Given the description of an element on the screen output the (x, y) to click on. 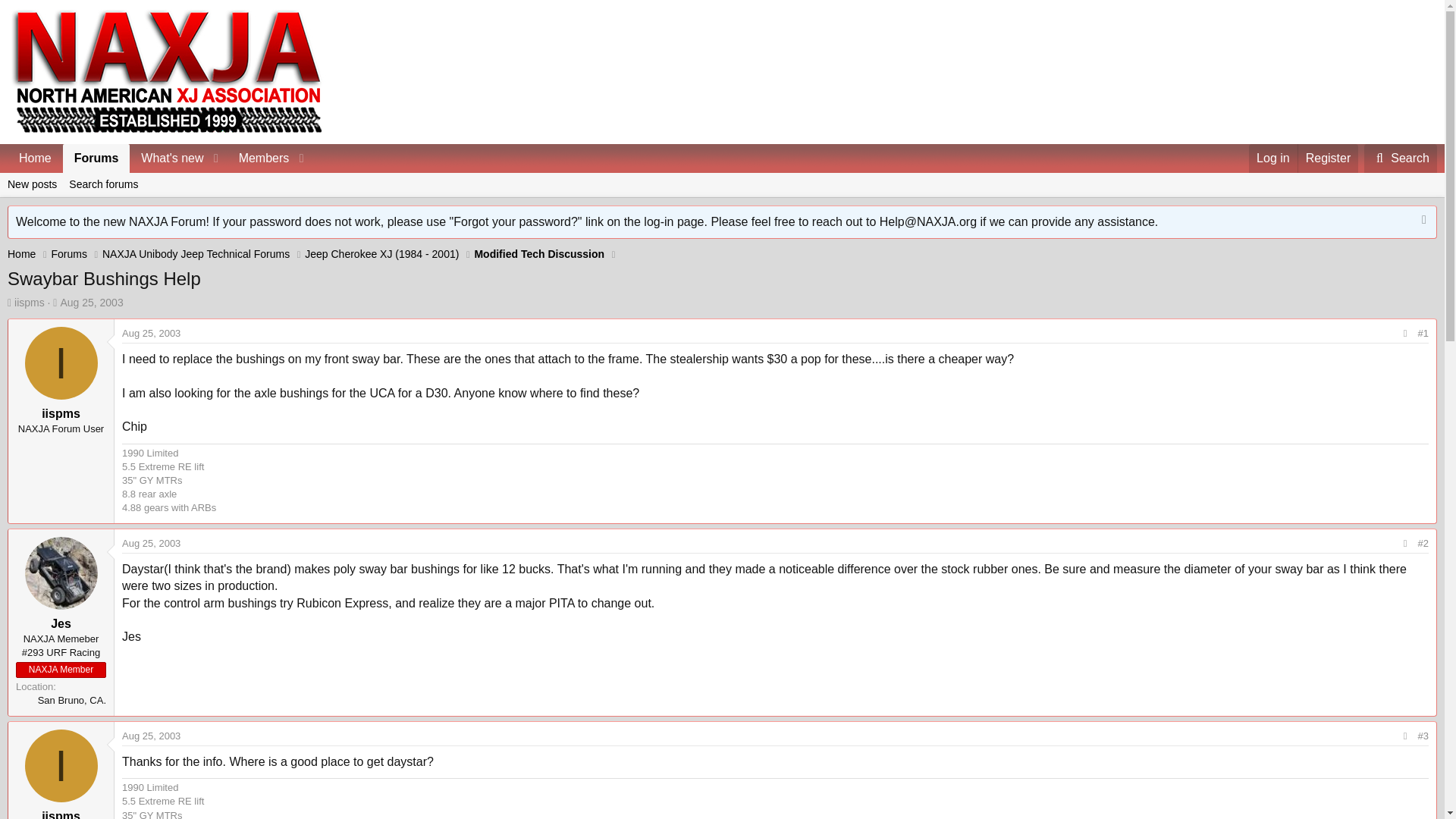
Home (721, 201)
iispms (20, 254)
Forums (160, 158)
Aug 25, 2003 at 5:21 PM (29, 302)
NAXJA Unibody Jeep Technical Forums (96, 158)
Aug 25, 2003 at 5:57 PM (151, 333)
Search forums (195, 254)
Members (151, 542)
